Given the description of an element on the screen output the (x, y) to click on. 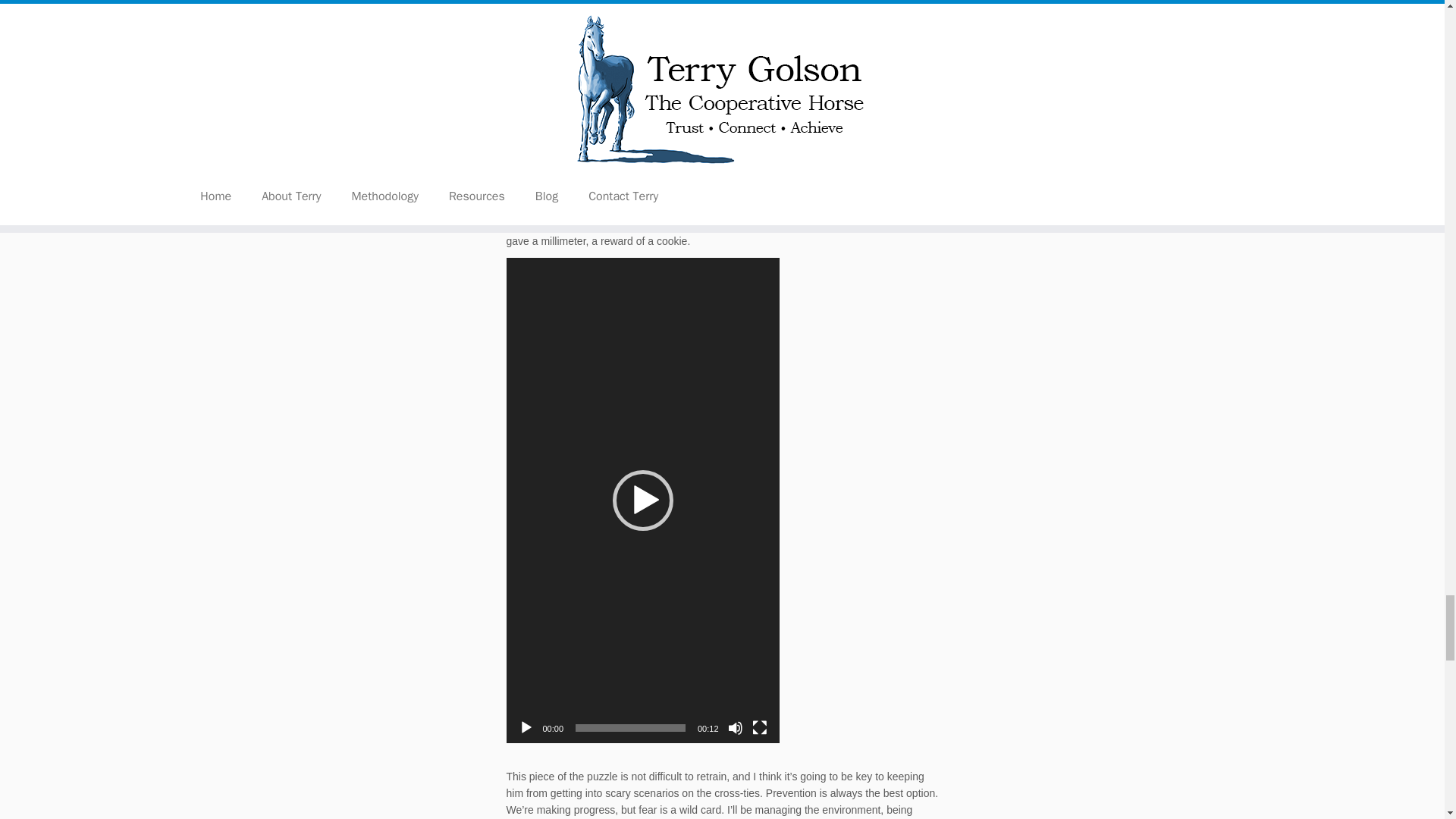
Mute (735, 727)
Fullscreen (759, 727)
Play (526, 727)
